Given the description of an element on the screen output the (x, y) to click on. 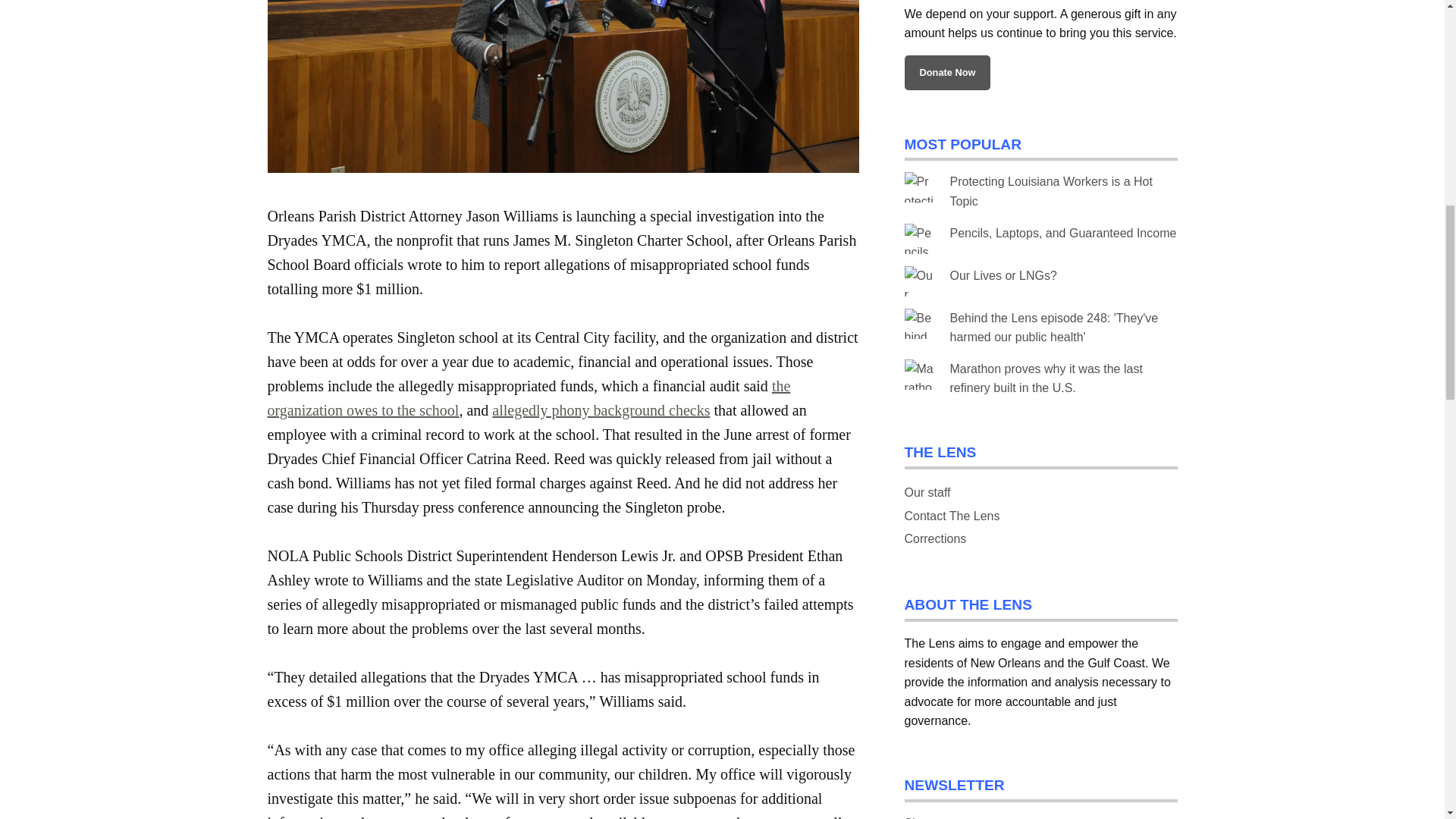
Pencils, Laptops, and Guaranteed Income (1062, 232)
Our Lives or LNGs? (1003, 275)
Protecting Louisiana Workers is a Hot Topic (1050, 191)
